Given the description of an element on the screen output the (x, y) to click on. 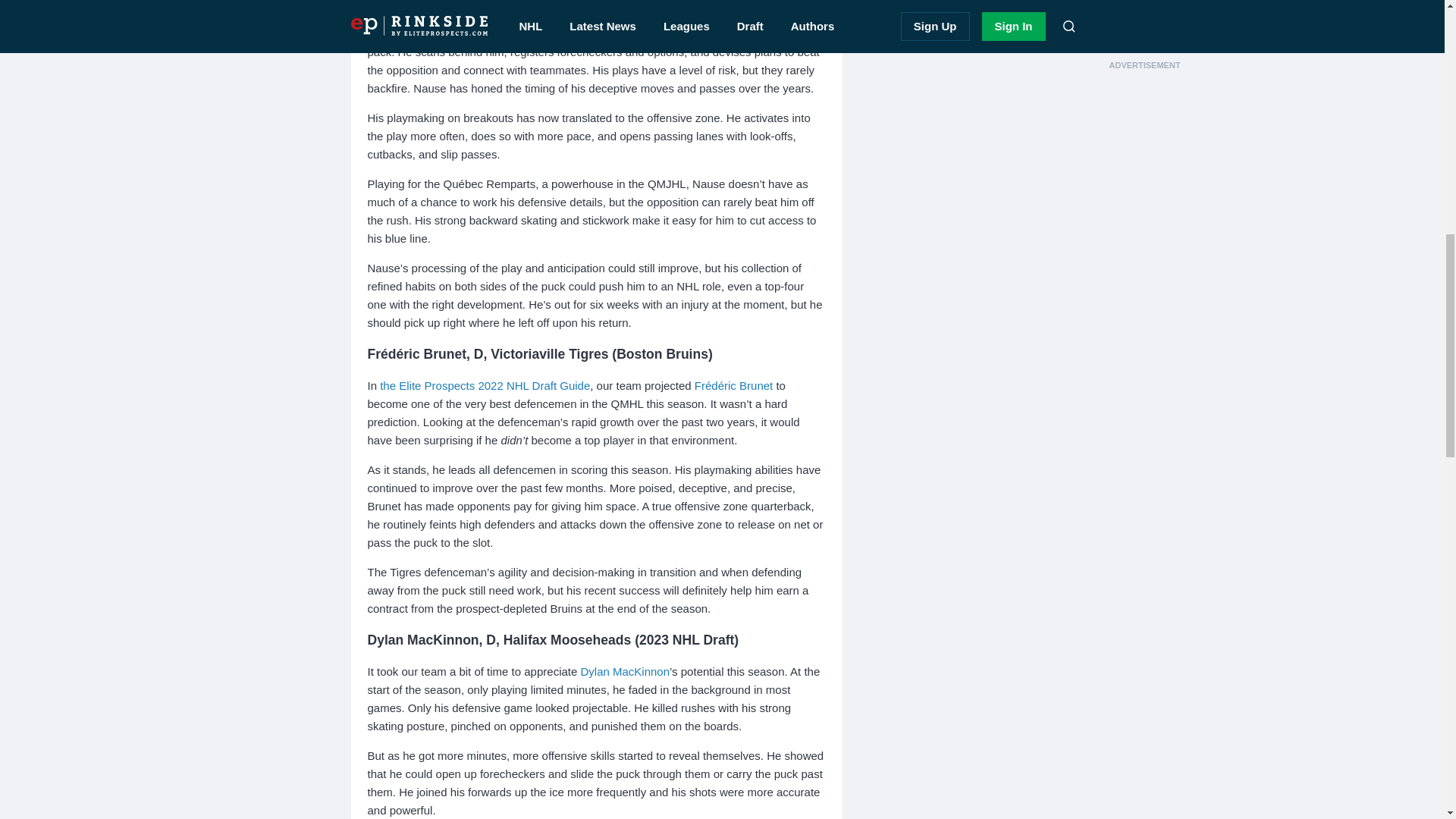
Evan Nause (397, 33)
